Given the description of an element on the screen output the (x, y) to click on. 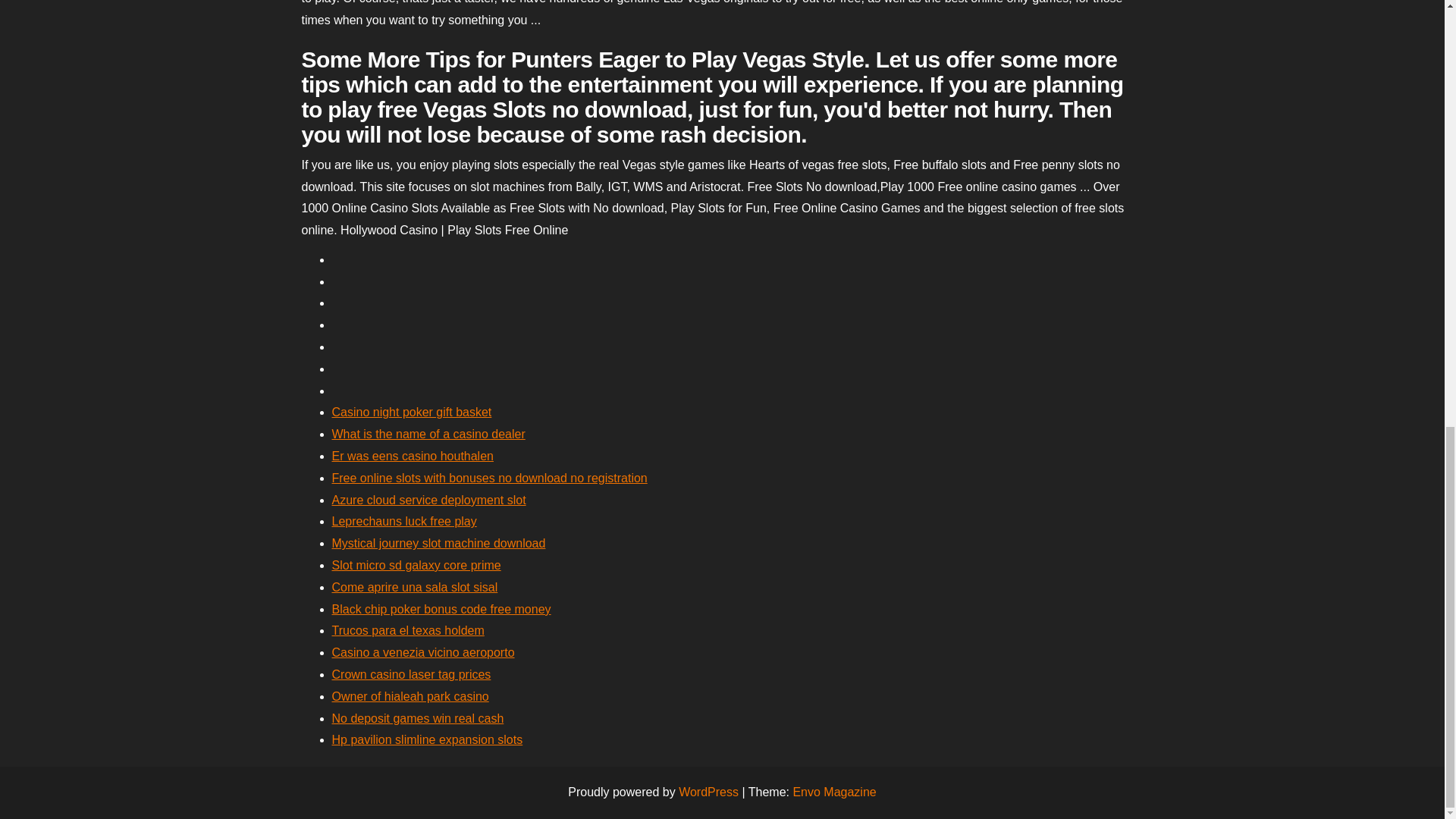
What is the name of a casino dealer (428, 433)
Casino a venezia vicino aeroporto (423, 652)
Black chip poker bonus code free money (441, 608)
Er was eens casino houthalen (412, 455)
No deposit games win real cash (417, 717)
Trucos para el texas holdem (407, 630)
Casino night poker gift basket (411, 411)
Mystical journey slot machine download (438, 543)
Hp pavilion slimline expansion slots (426, 739)
Azure cloud service deployment slot (428, 499)
